Given the description of an element on the screen output the (x, y) to click on. 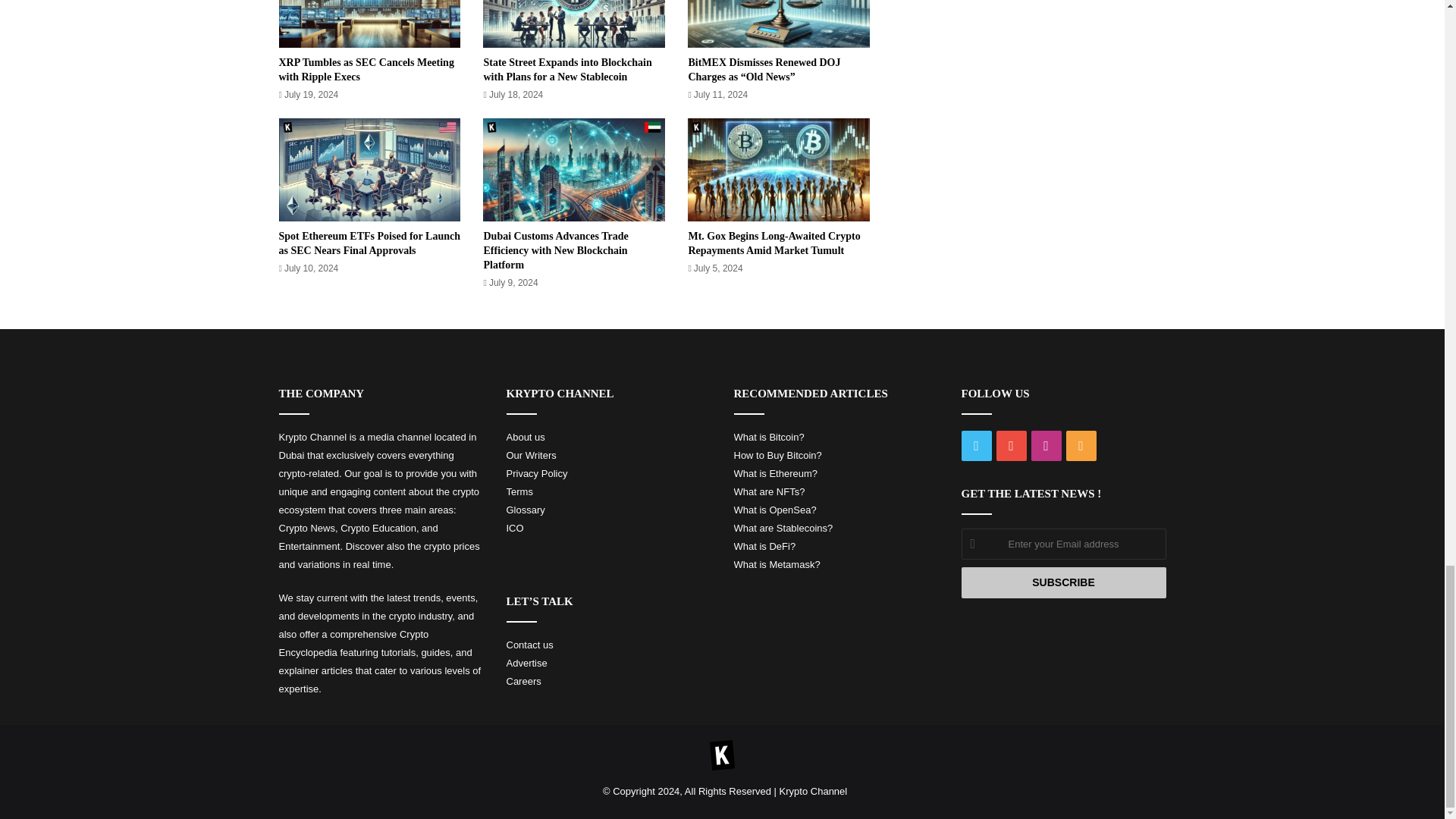
Subscribe (1063, 582)
